Given the description of an element on the screen output the (x, y) to click on. 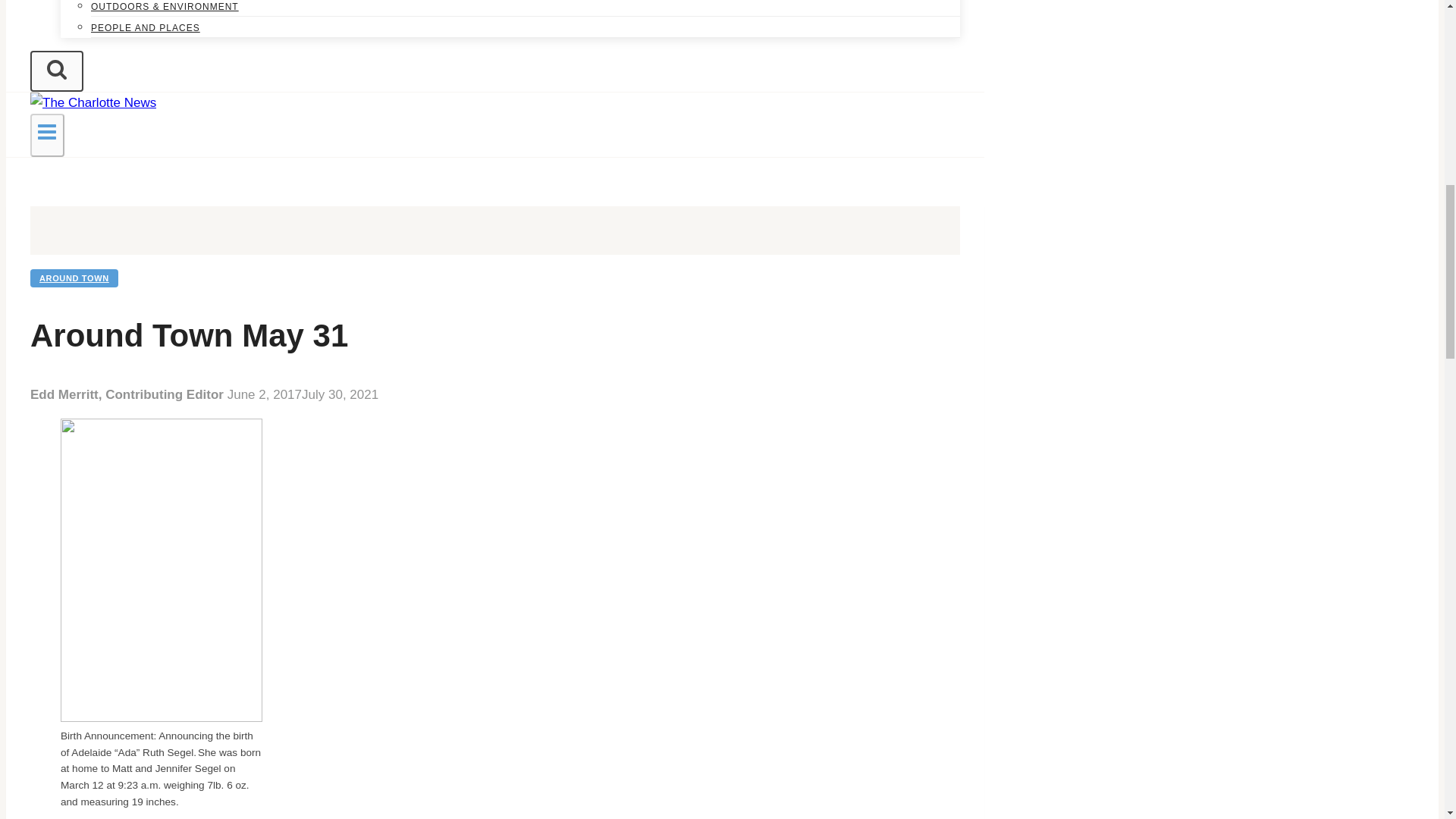
Search (56, 68)
PEOPLE AND PLACES (145, 27)
Search (56, 70)
